Given the description of an element on the screen output the (x, y) to click on. 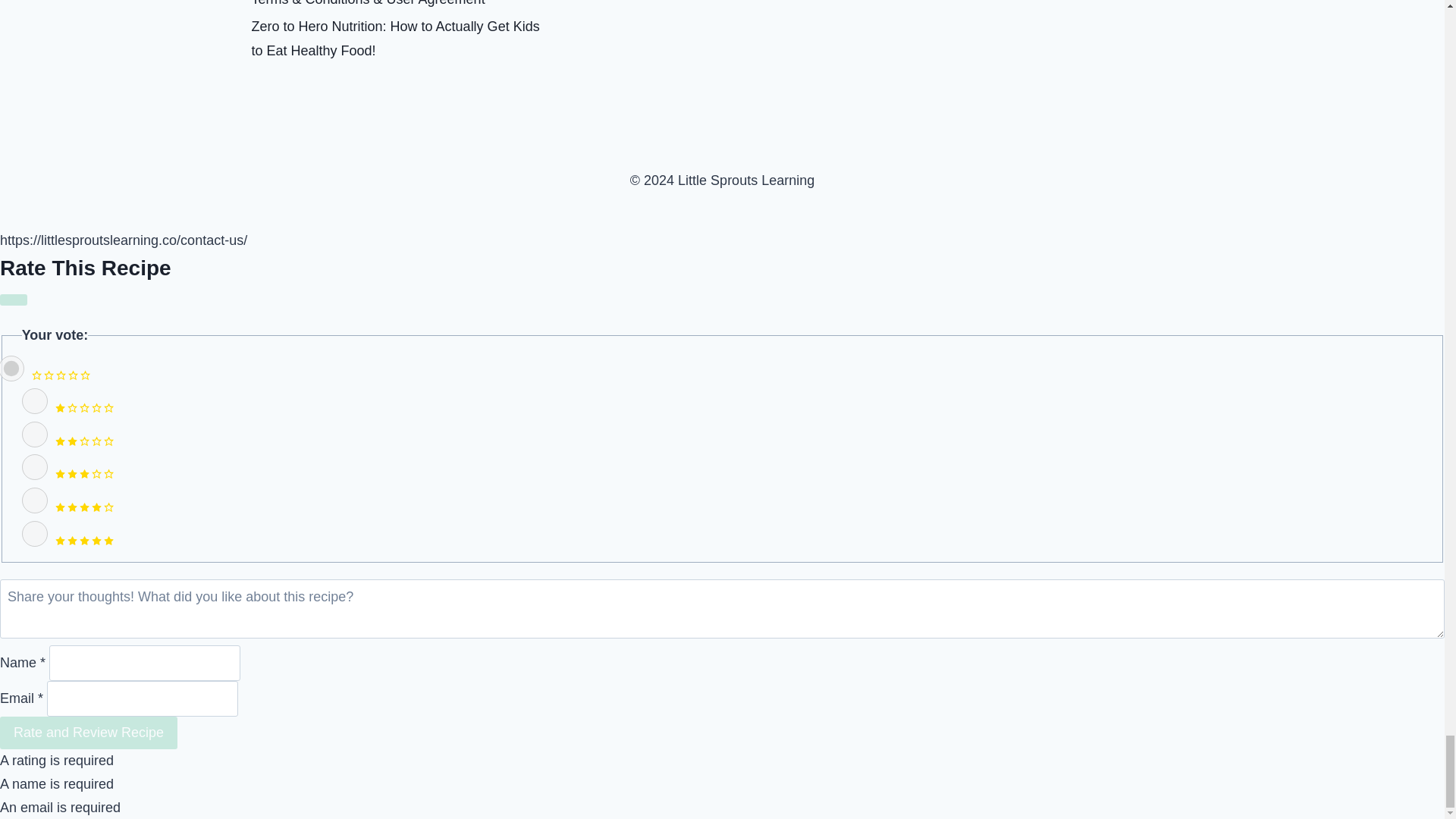
5 (34, 533)
1 (34, 401)
3 (34, 466)
2 (34, 434)
4 (34, 500)
0 (12, 368)
